Given the description of an element on the screen output the (x, y) to click on. 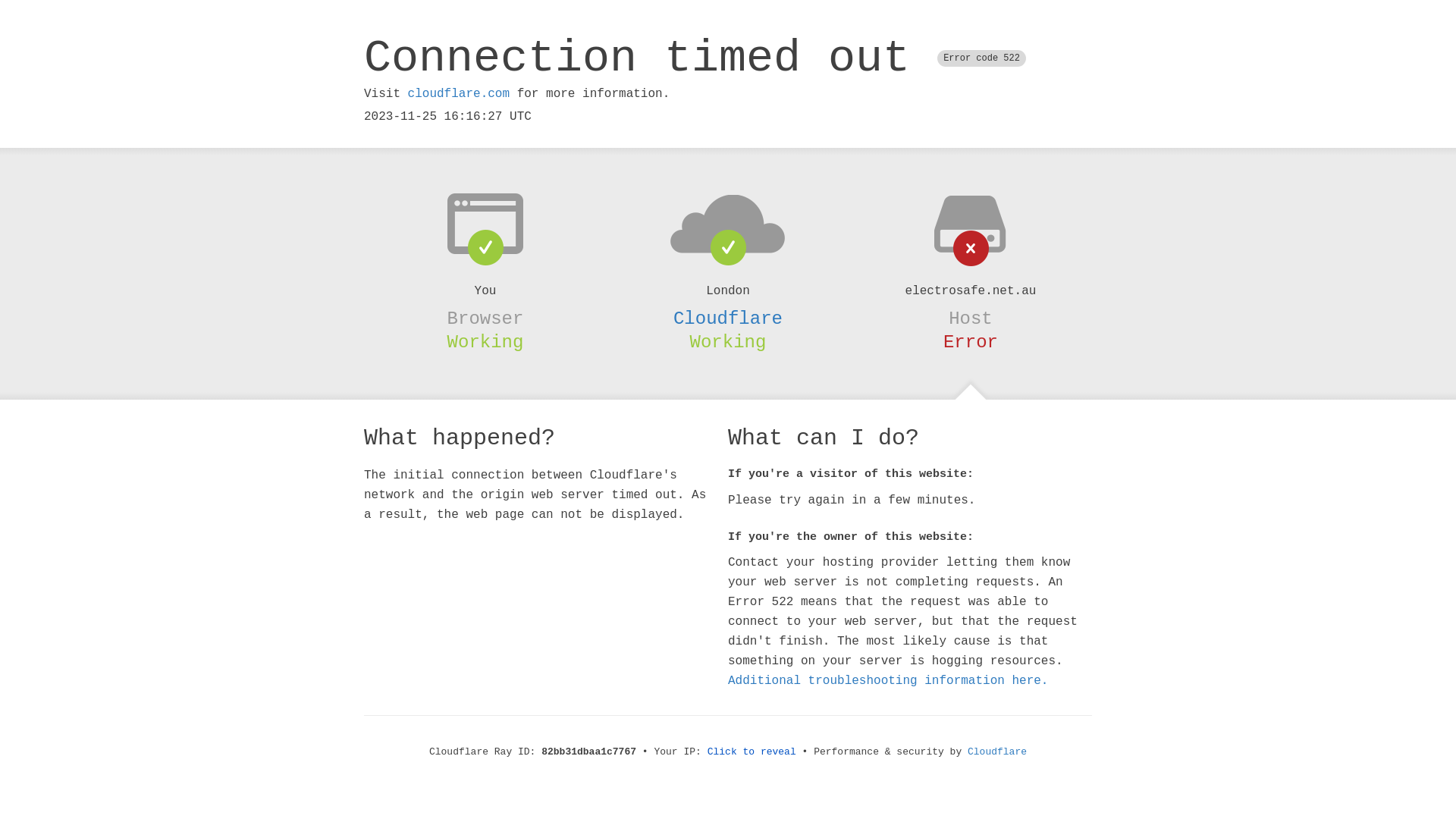
Click to reveal Element type: text (751, 751)
Additional troubleshooting information here. Element type: text (888, 680)
Cloudflare Element type: text (996, 751)
cloudflare.com Element type: text (458, 93)
Cloudflare Element type: text (727, 318)
